Given the description of an element on the screen output the (x, y) to click on. 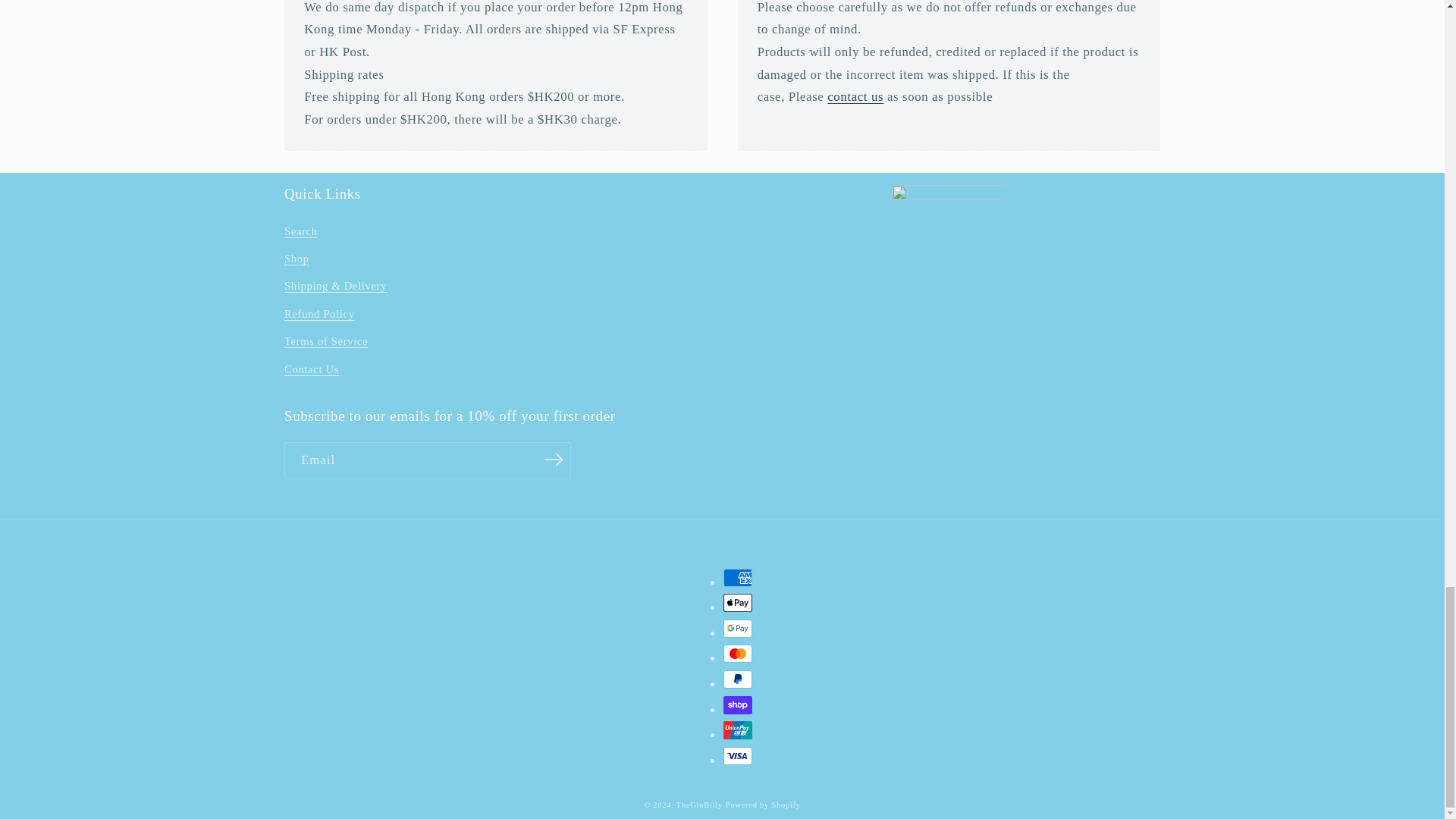
Union Pay (737, 730)
Mastercard (737, 653)
Google Pay (737, 628)
PayPal (737, 679)
Shop Pay (737, 705)
American Express (737, 577)
Apple Pay (737, 602)
Visa (737, 755)
contact theglobilly (855, 96)
